Given the description of an element on the screen output the (x, y) to click on. 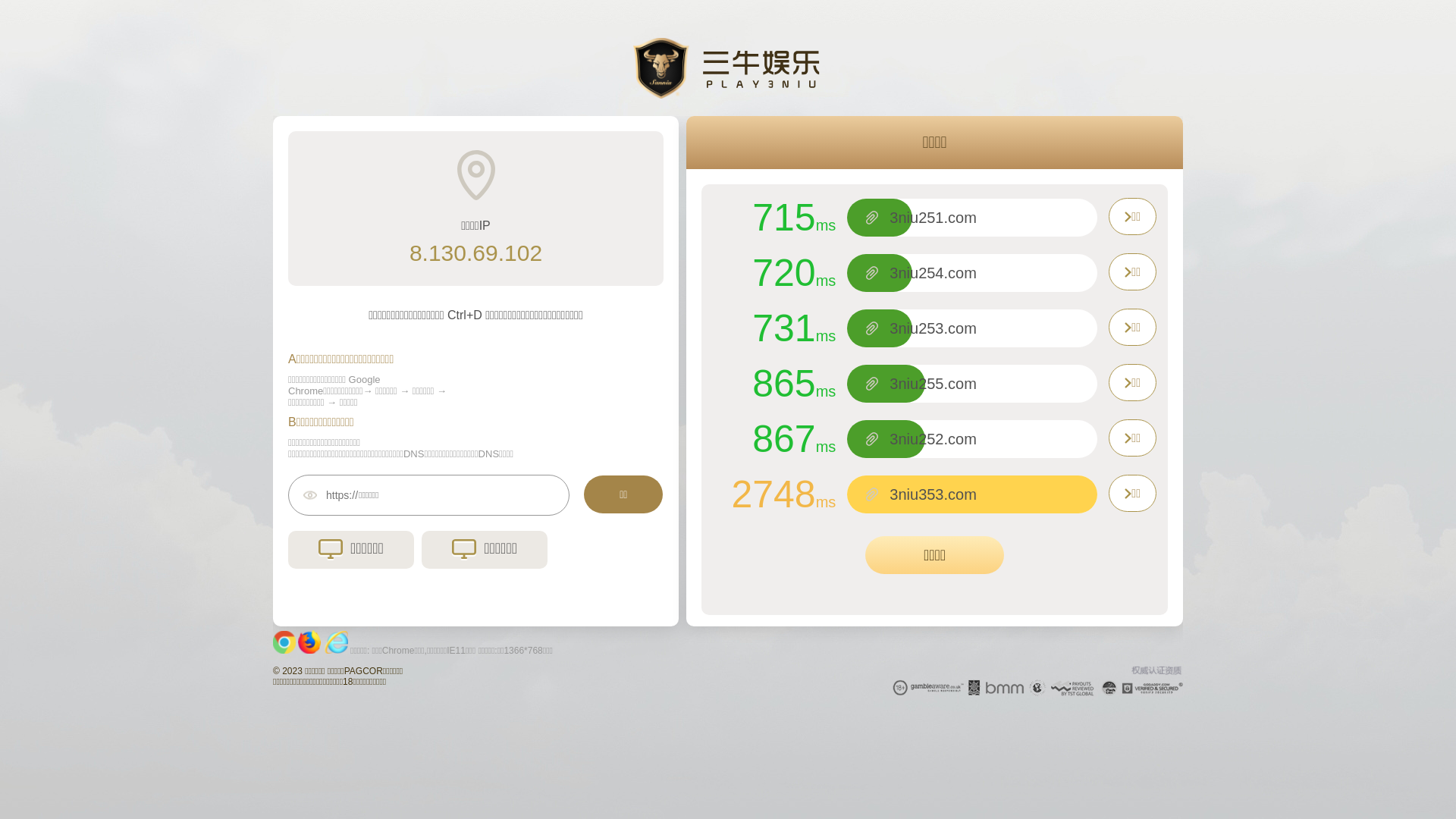
3niu253.com Element type: text (932, 328)
3niu255.com Element type: text (932, 383)
3niu251.com Element type: text (932, 217)
3niu252.com Element type: text (932, 438)
3niu254.com Element type: text (932, 272)
3niu353.com Element type: text (932, 494)
